Given the description of an element on the screen output the (x, y) to click on. 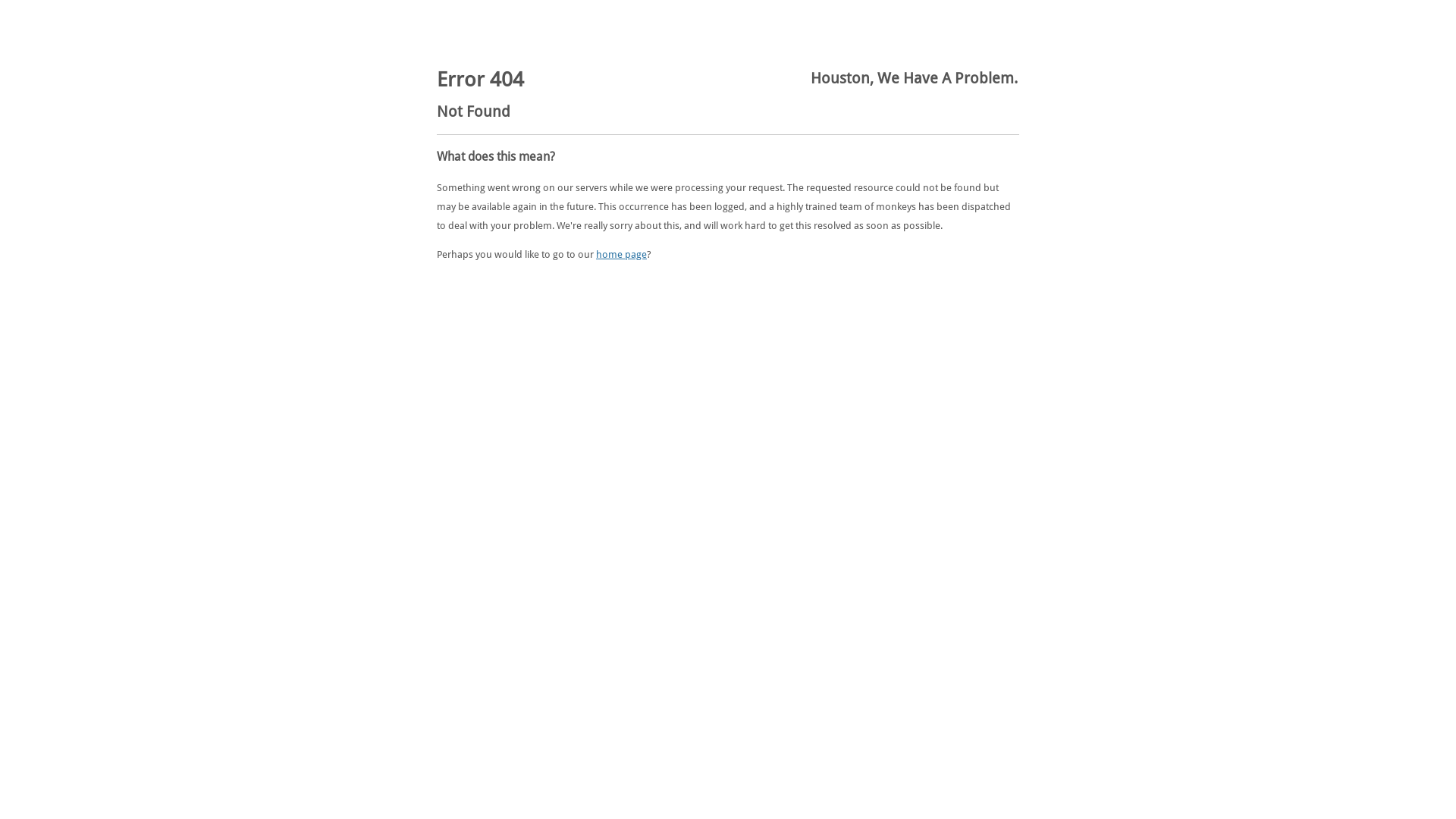
home page Element type: text (621, 254)
